Given the description of an element on the screen output the (x, y) to click on. 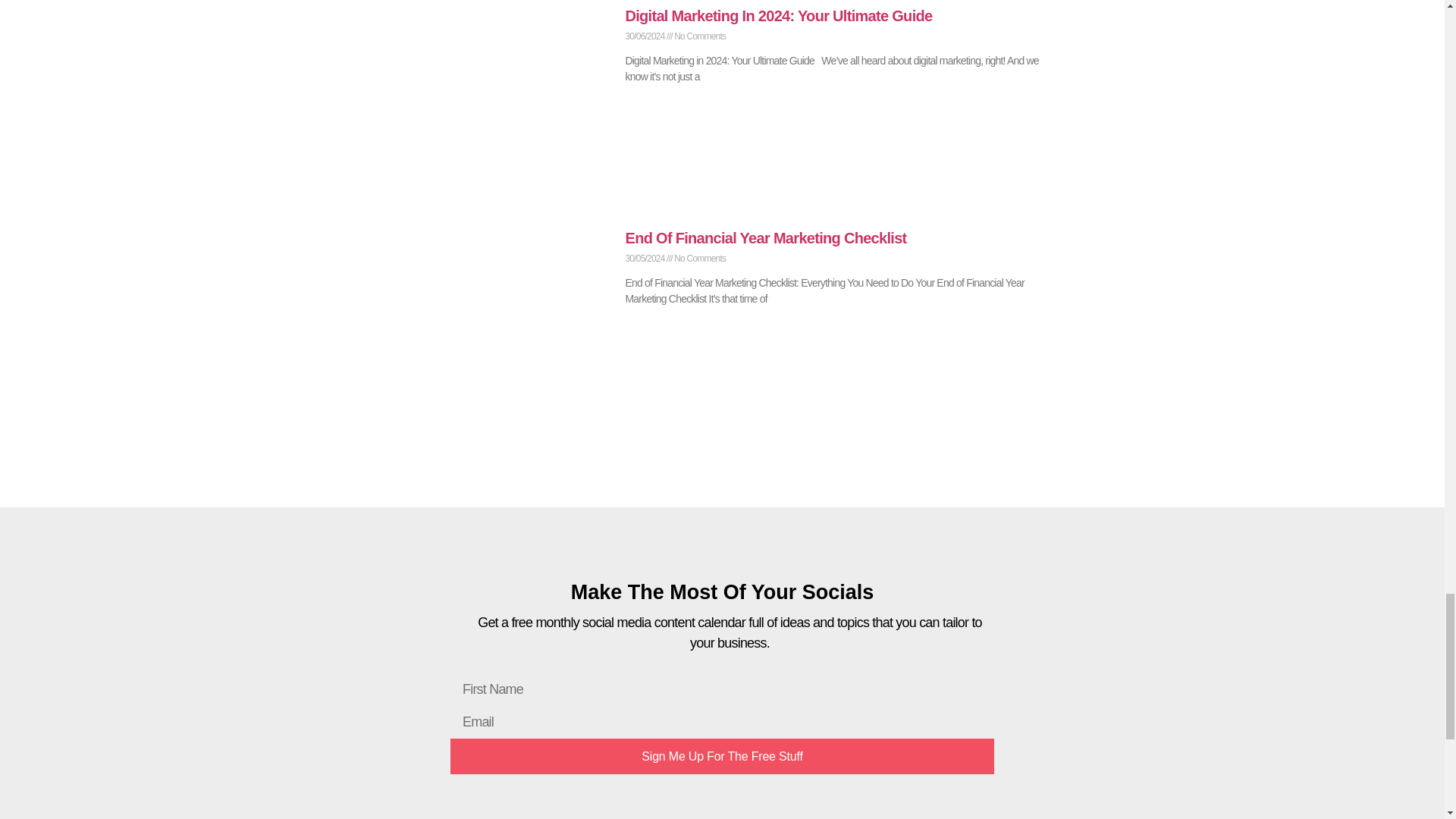
End Of Financial Year Marketing Checklist (764, 238)
Digital Marketing In 2024: Your Ultimate Guide (777, 15)
Sign Me Up For The Free Stuff (721, 755)
